Given the description of an element on the screen output the (x, y) to click on. 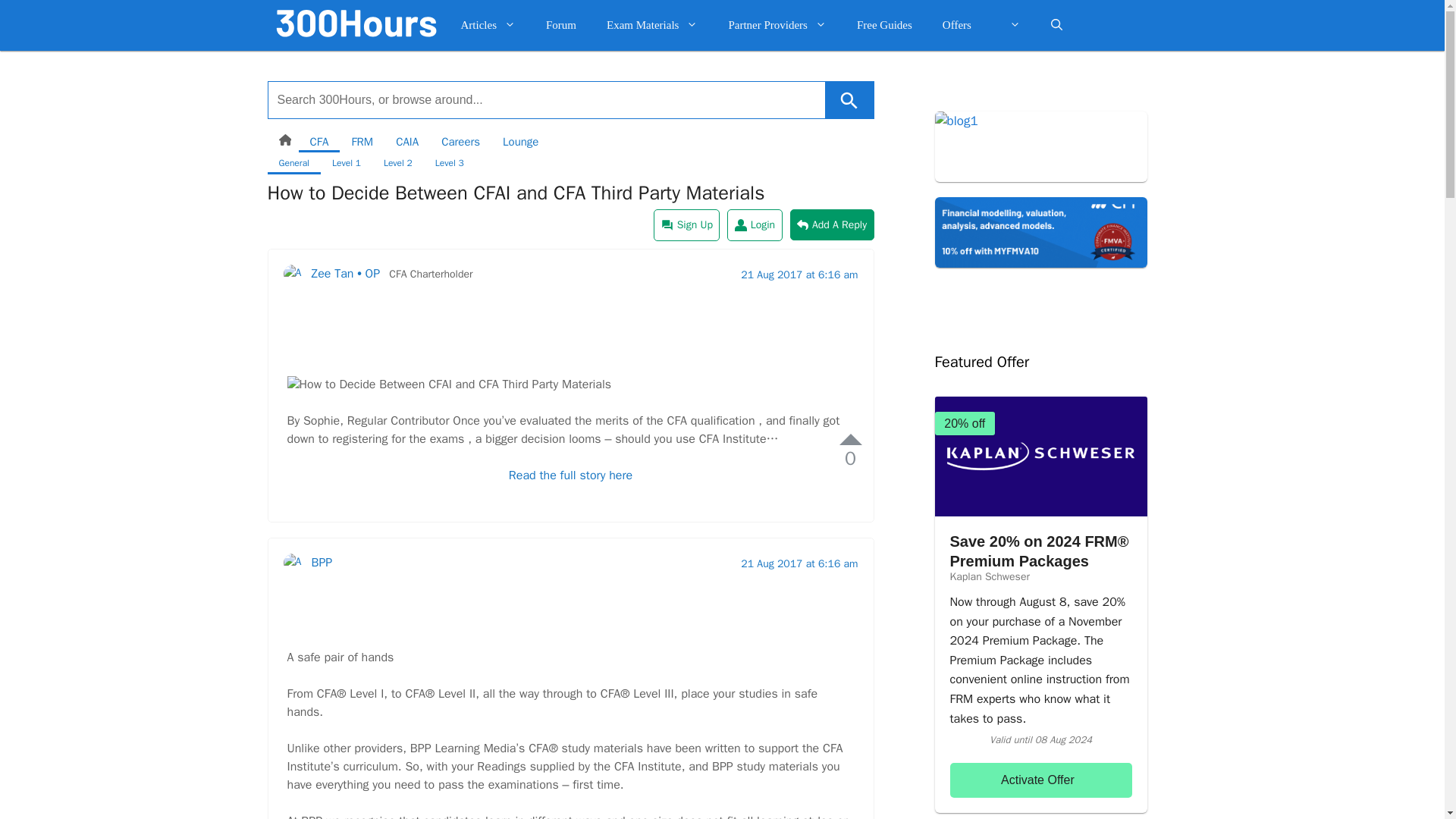
View BPP's profile (312, 625)
View Zee Tan's profile (336, 351)
300Hours (355, 22)
Activate Offer (1040, 779)
